Given the description of an element on the screen output the (x, y) to click on. 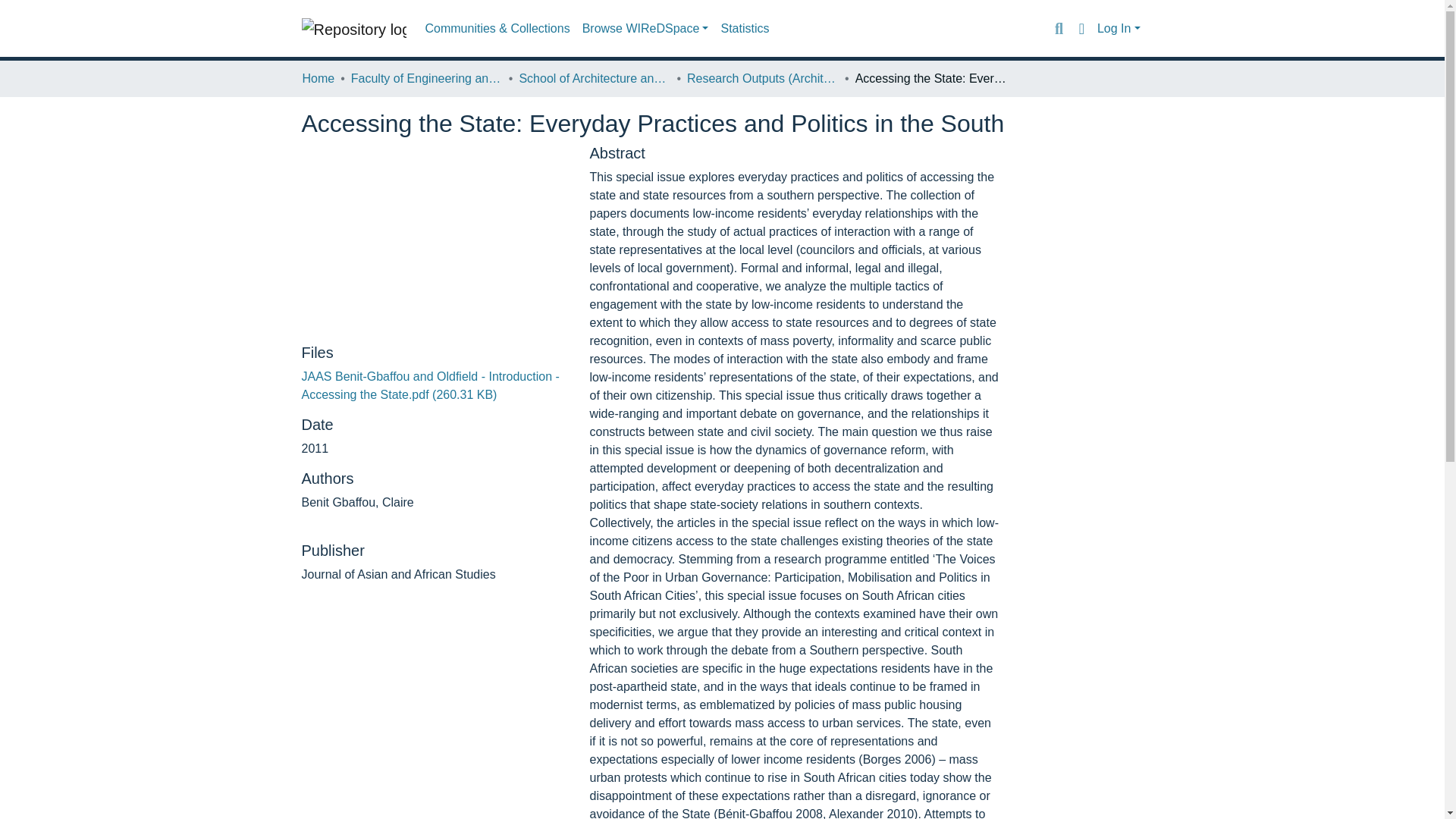
Home (317, 78)
Statistics (744, 28)
Browse WIReDSpace (645, 28)
Statistics (744, 28)
Faculty of Engineering and Built Environment (426, 78)
Search (1058, 28)
School of Architecture and Planning (593, 78)
Log In (1118, 28)
Language switch (1081, 28)
